Given the description of an element on the screen output the (x, y) to click on. 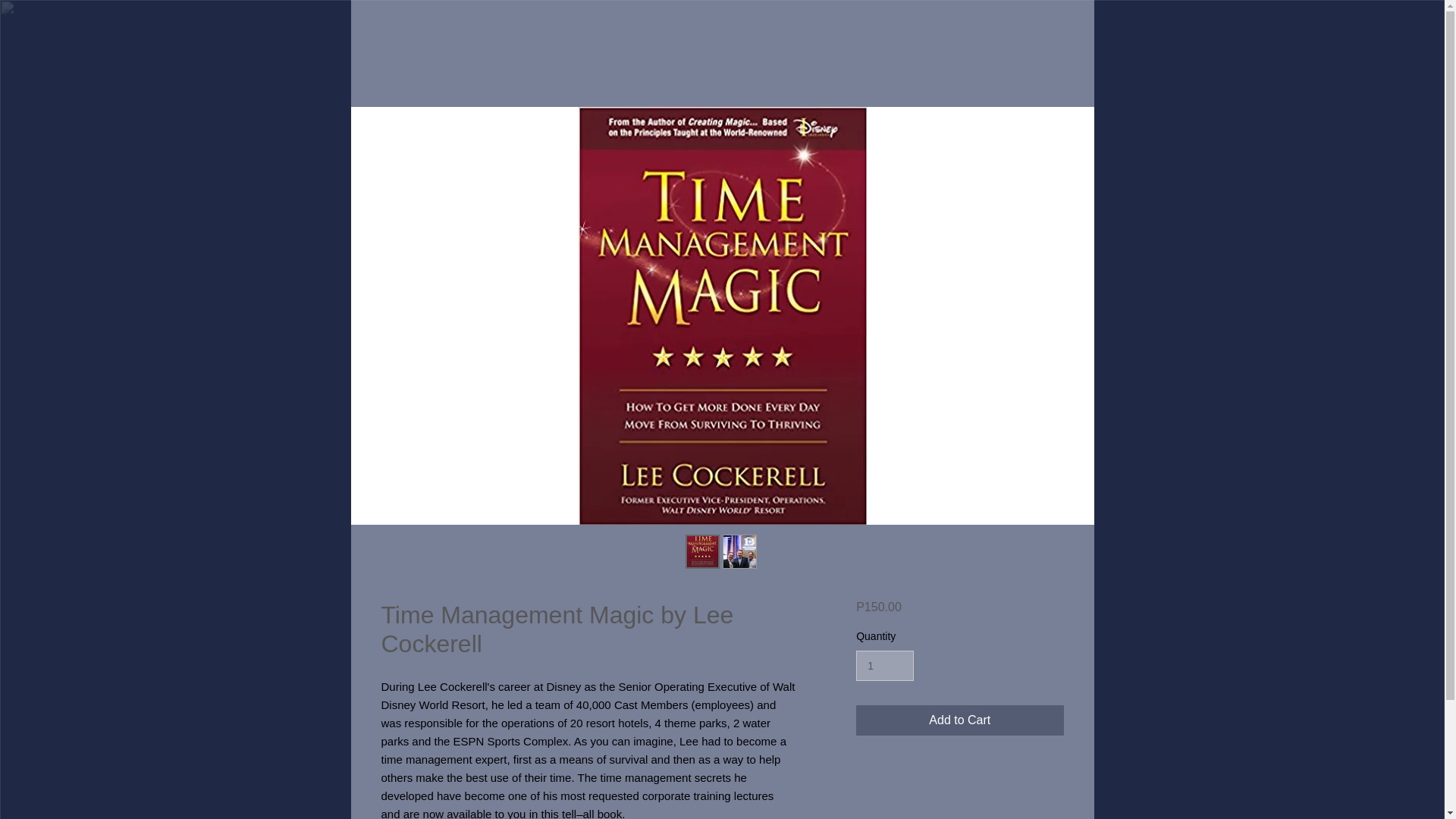
1 (885, 665)
Add to Cart (959, 720)
